Given the description of an element on the screen output the (x, y) to click on. 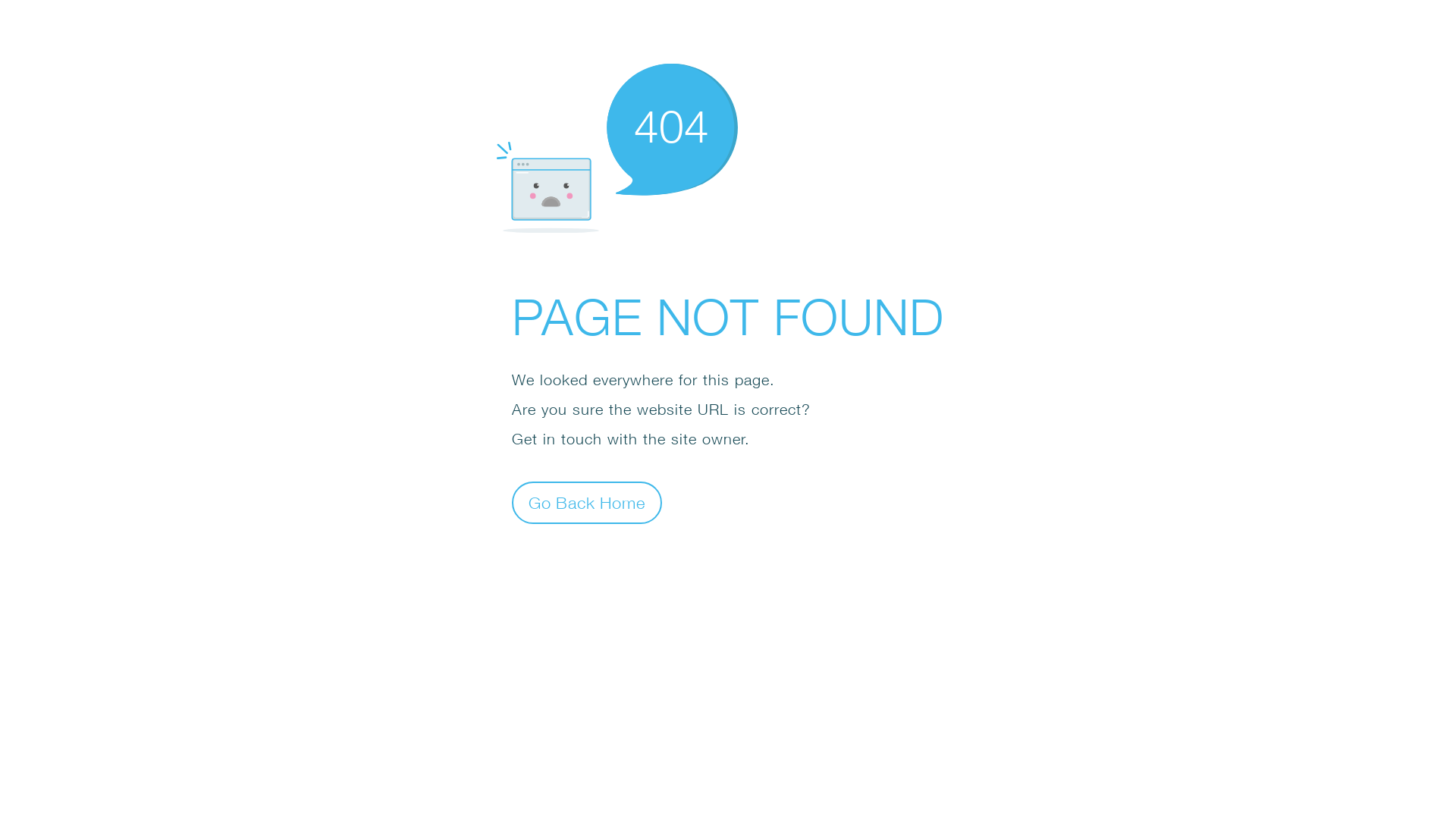
Go Back Home Element type: text (586, 502)
